Given the description of an element on the screen output the (x, y) to click on. 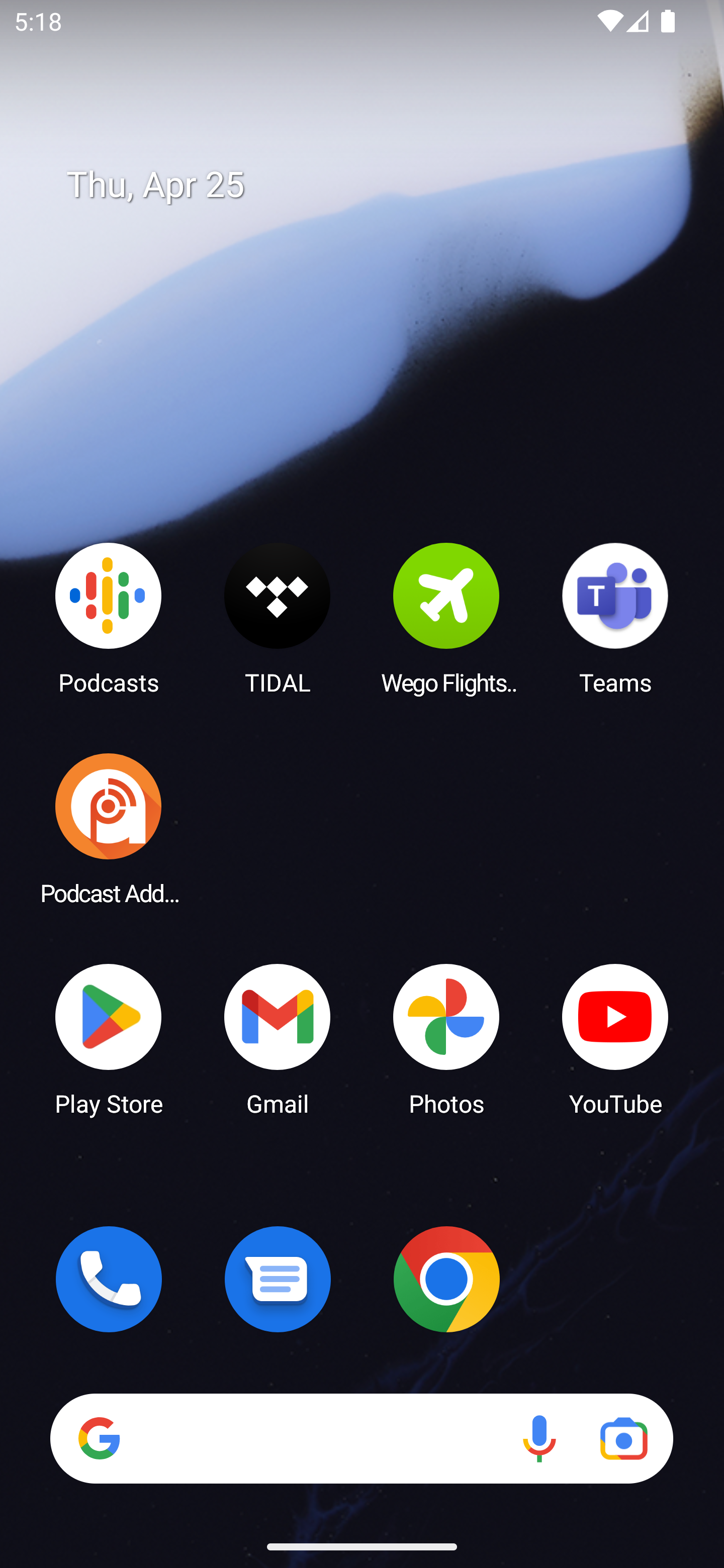
Thu, Apr 25 (375, 184)
Podcasts (108, 617)
TIDAL (277, 617)
Wego Flights & Hotels (445, 617)
Teams (615, 617)
Podcast Addict (108, 828)
Play Store (108, 1038)
Gmail (277, 1038)
Photos (445, 1038)
YouTube (615, 1038)
Phone (108, 1279)
Messages (277, 1279)
Chrome (446, 1279)
Search Voice search Google Lens (361, 1438)
Voice search (539, 1438)
Google Lens (623, 1438)
